Given the description of an element on the screen output the (x, y) to click on. 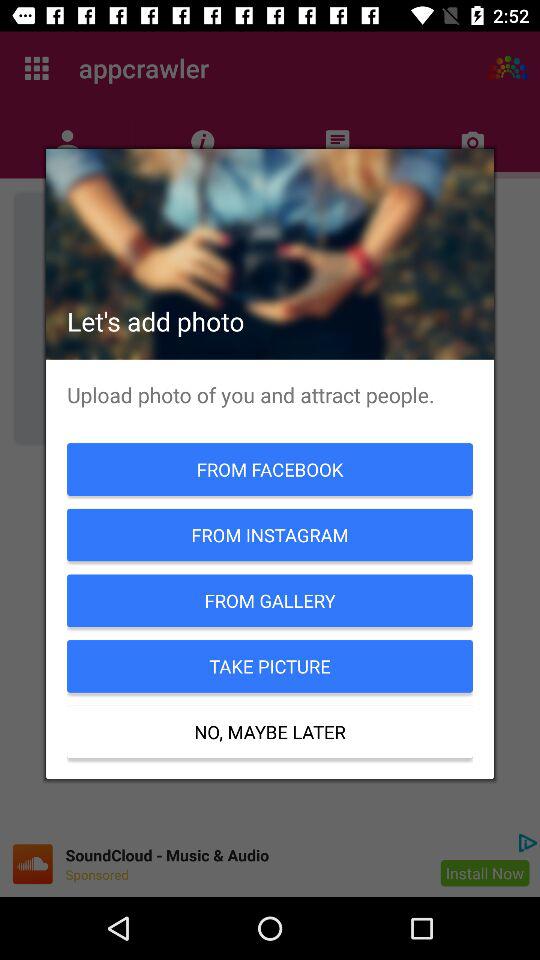
open the item above no, maybe later item (269, 666)
